Given the description of an element on the screen output the (x, y) to click on. 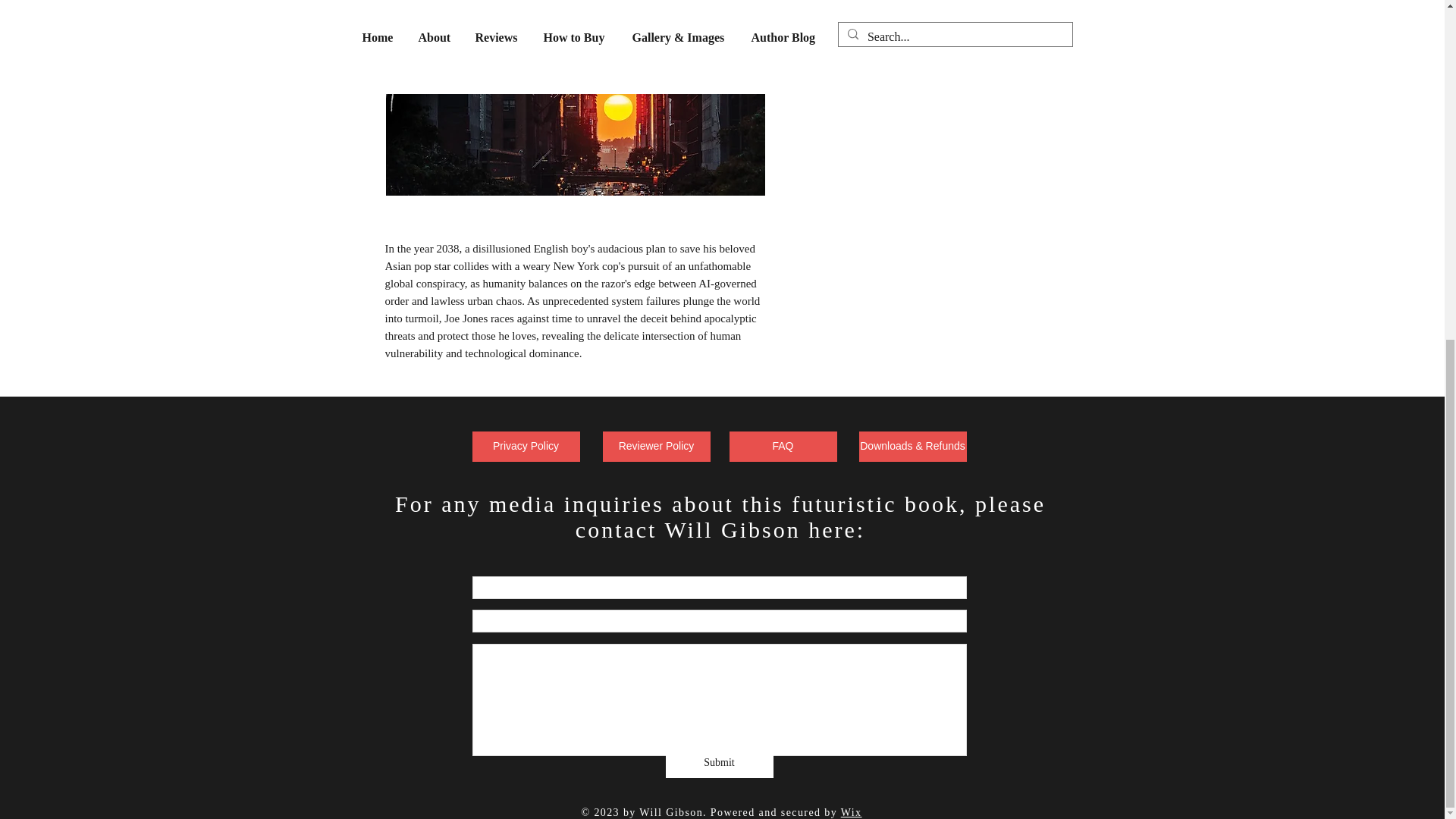
Reviewer Policy (656, 446)
Wix (851, 812)
Submit (719, 762)
Privacy Policy (525, 446)
FAQ (783, 446)
